Given the description of an element on the screen output the (x, y) to click on. 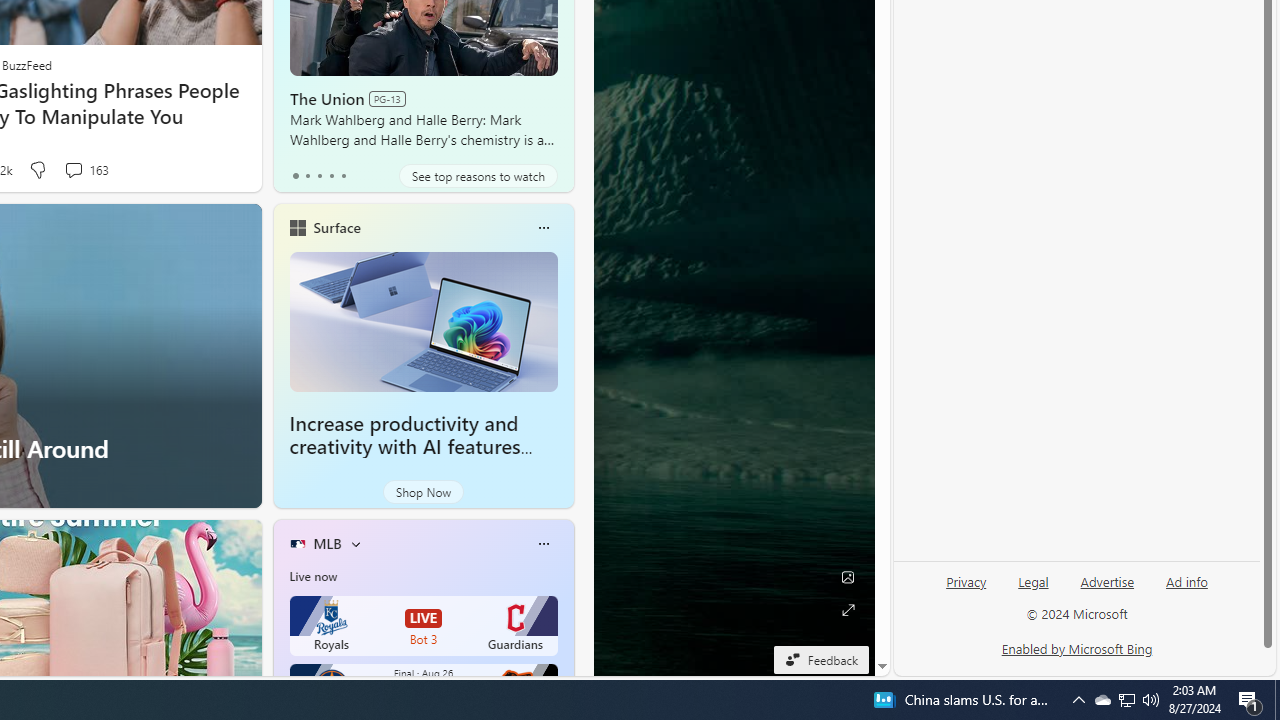
tab-2 (319, 175)
Legal (1033, 589)
Surface (336, 227)
Edit Background (847, 577)
MLB (327, 543)
See top reasons to watch (478, 175)
tab-0 (295, 175)
View comments 163 Comment (85, 170)
